Given the description of an element on the screen output the (x, y) to click on. 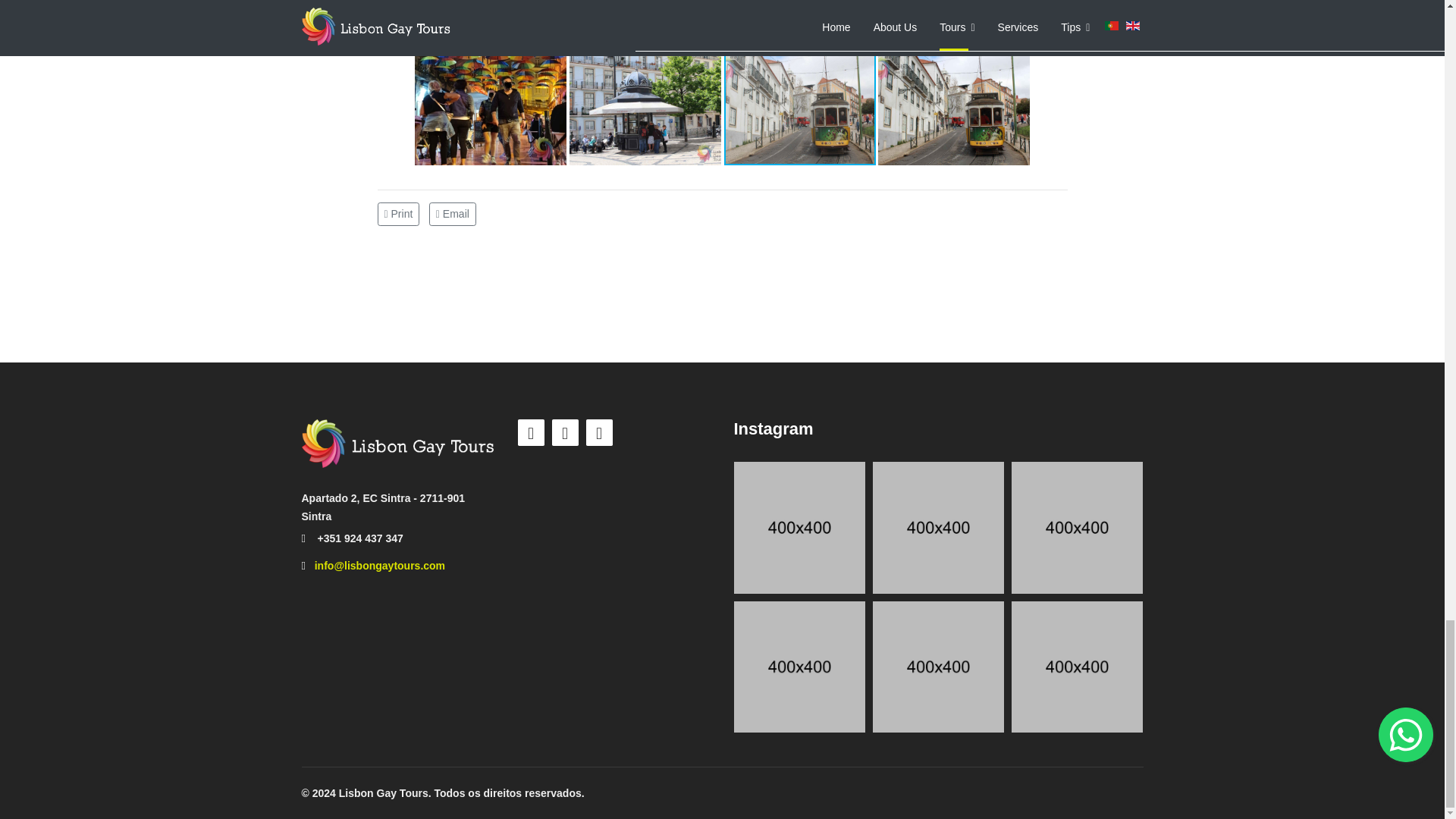
1 (798, 526)
9 (1076, 666)
Email (452, 212)
4 (1076, 526)
8 (798, 666)
Print (400, 212)
5 (938, 526)
Email this link to a friend (452, 212)
6 (938, 666)
